Given the description of an element on the screen output the (x, y) to click on. 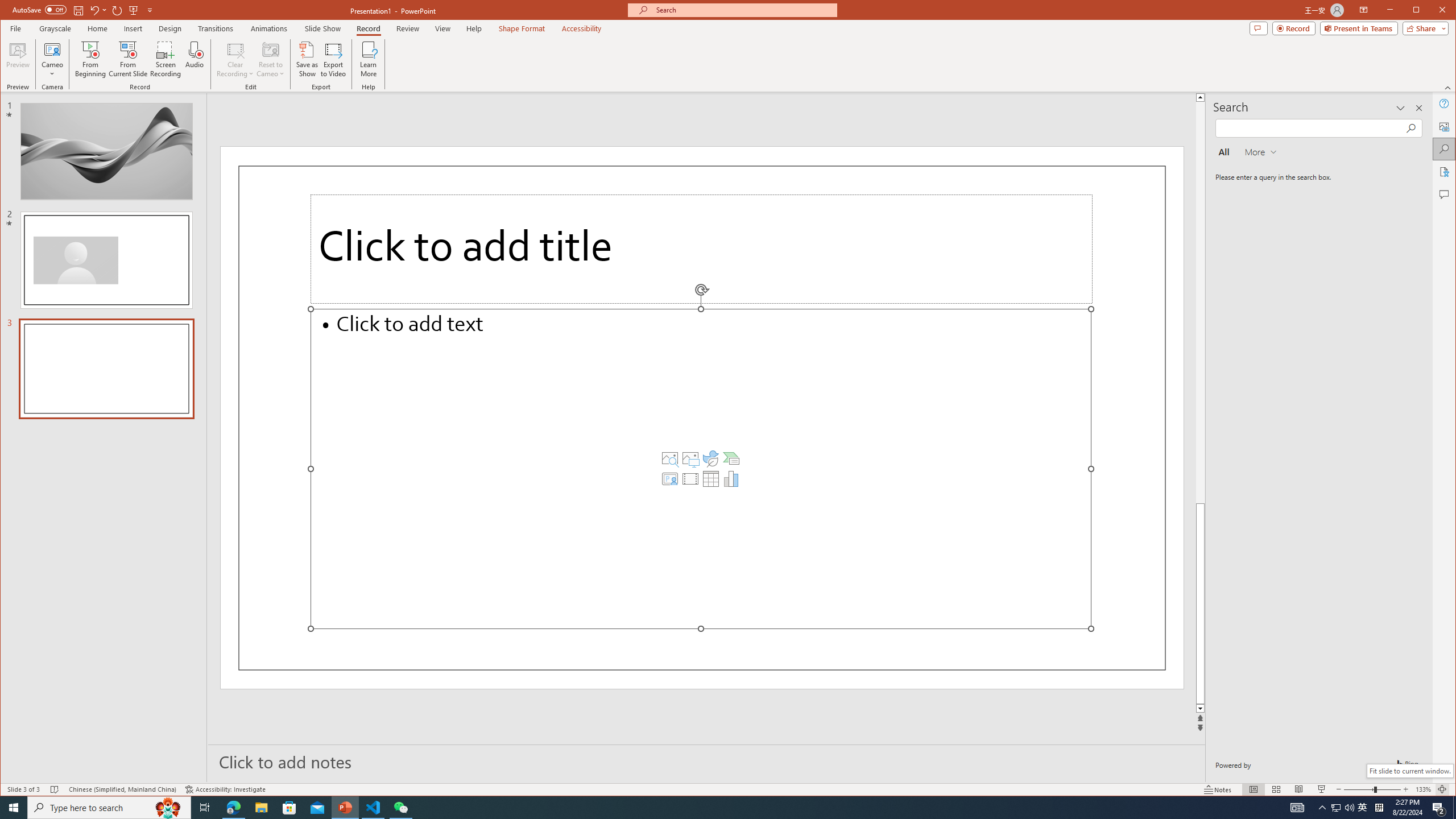
Insert Table (710, 479)
Stock Images (669, 458)
WeChat - 1 running window (400, 807)
Insert Video (689, 479)
